Given the description of an element on the screen output the (x, y) to click on. 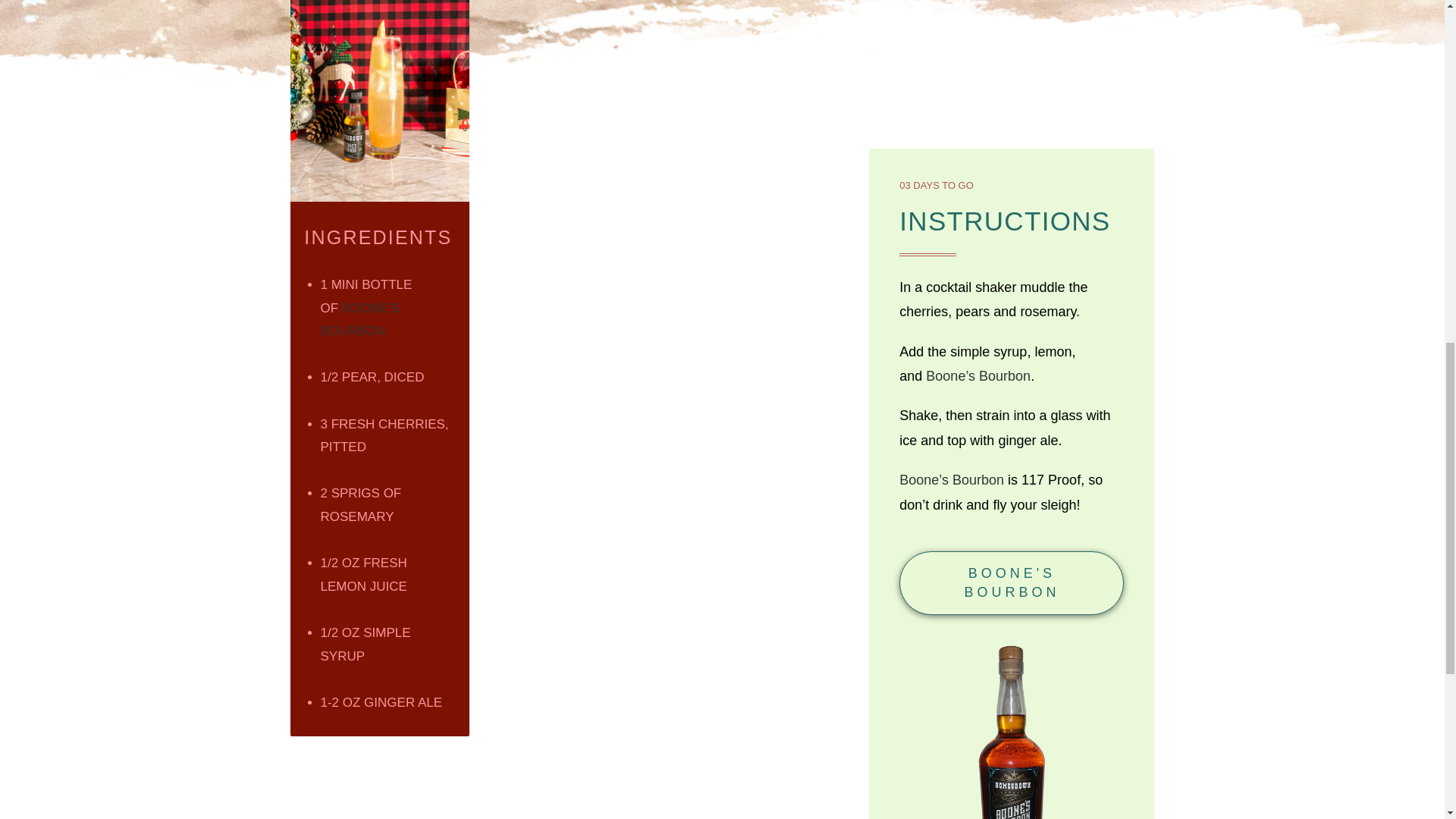
BOONE'S BOURBON (1011, 583)
